Given the description of an element on the screen output the (x, y) to click on. 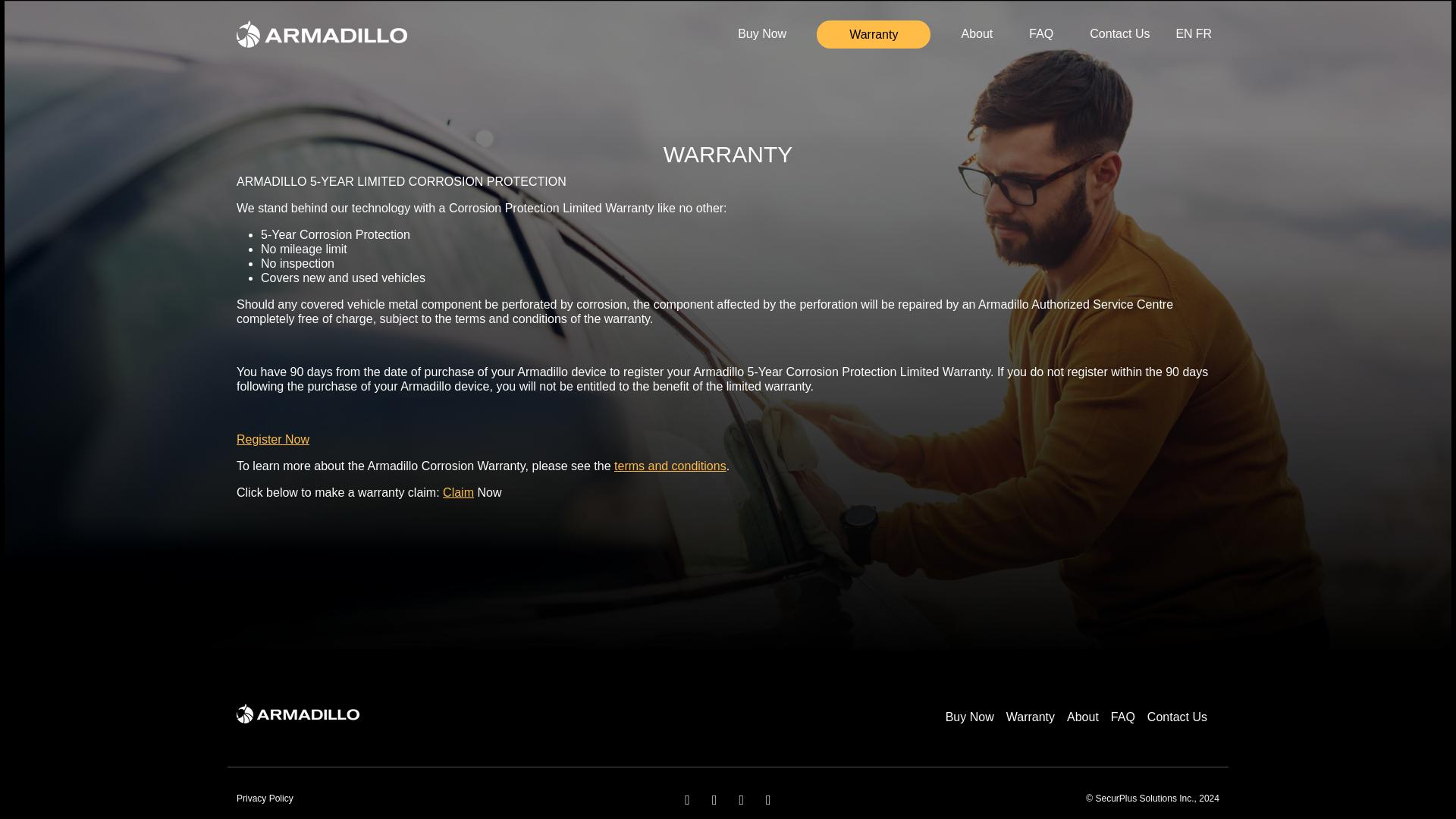
terms and conditions (670, 465)
Buy Now (975, 716)
FR (1202, 34)
About (976, 32)
About (1088, 716)
Warranty (1036, 716)
FAQ (1041, 32)
Warranty (873, 34)
Register Now (271, 439)
EN (1183, 34)
Buy Now (762, 32)
Contact Us (1183, 716)
terms and conditions (510, 318)
Claim (458, 492)
Privacy Policy (264, 798)
